Given the description of an element on the screen output the (x, y) to click on. 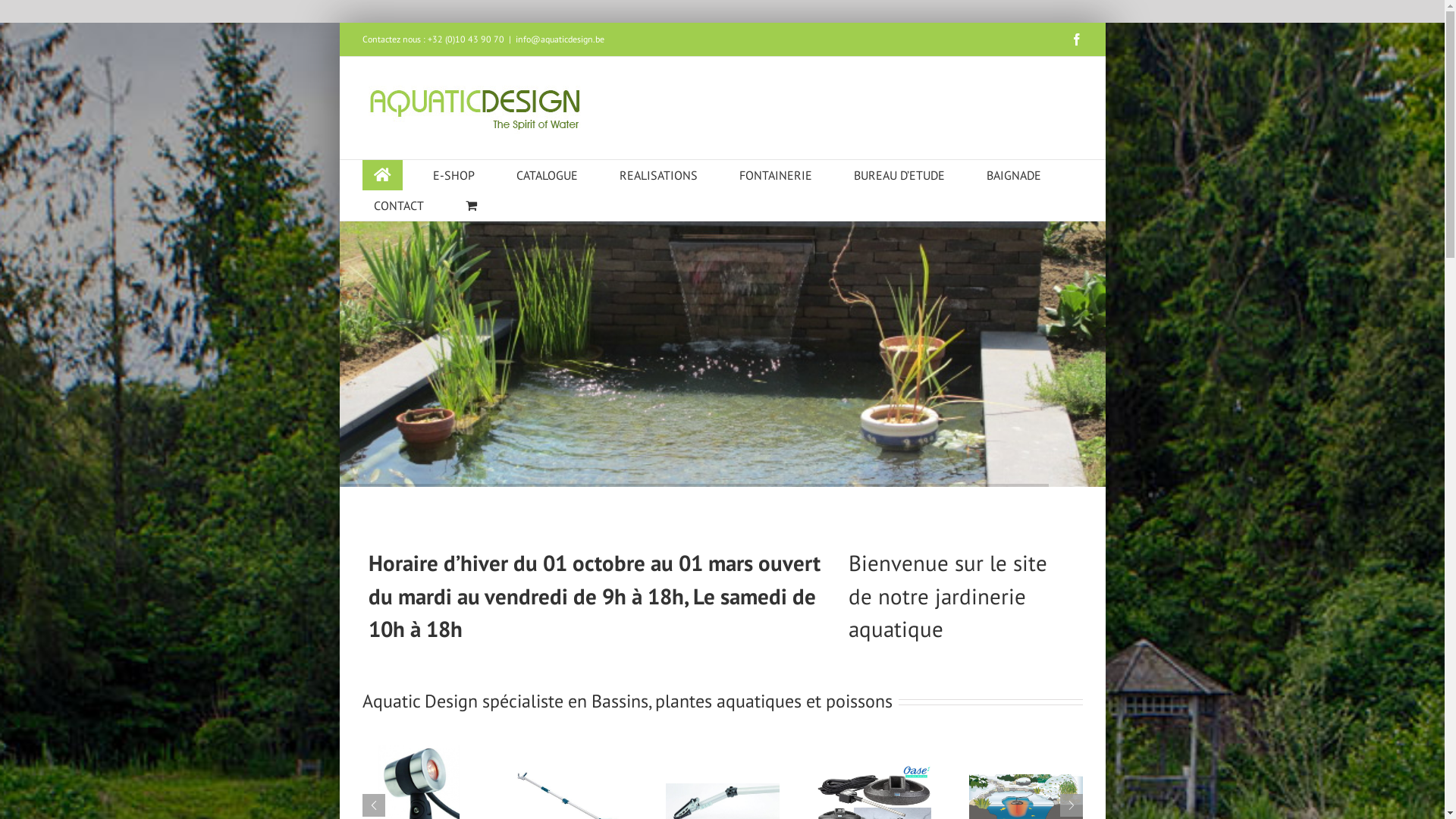
CATALOGUE Element type: text (547, 175)
CONTACT Element type: text (398, 205)
REALISATIONS Element type: text (658, 175)
FONTAINERIE Element type: text (775, 175)
BAIGNADE Element type: text (1013, 175)
info@aquaticdesign.be Element type: text (559, 38)
facebook Element type: text (1076, 39)
E-SHOP Element type: text (453, 175)
